Given the description of an element on the screen output the (x, y) to click on. 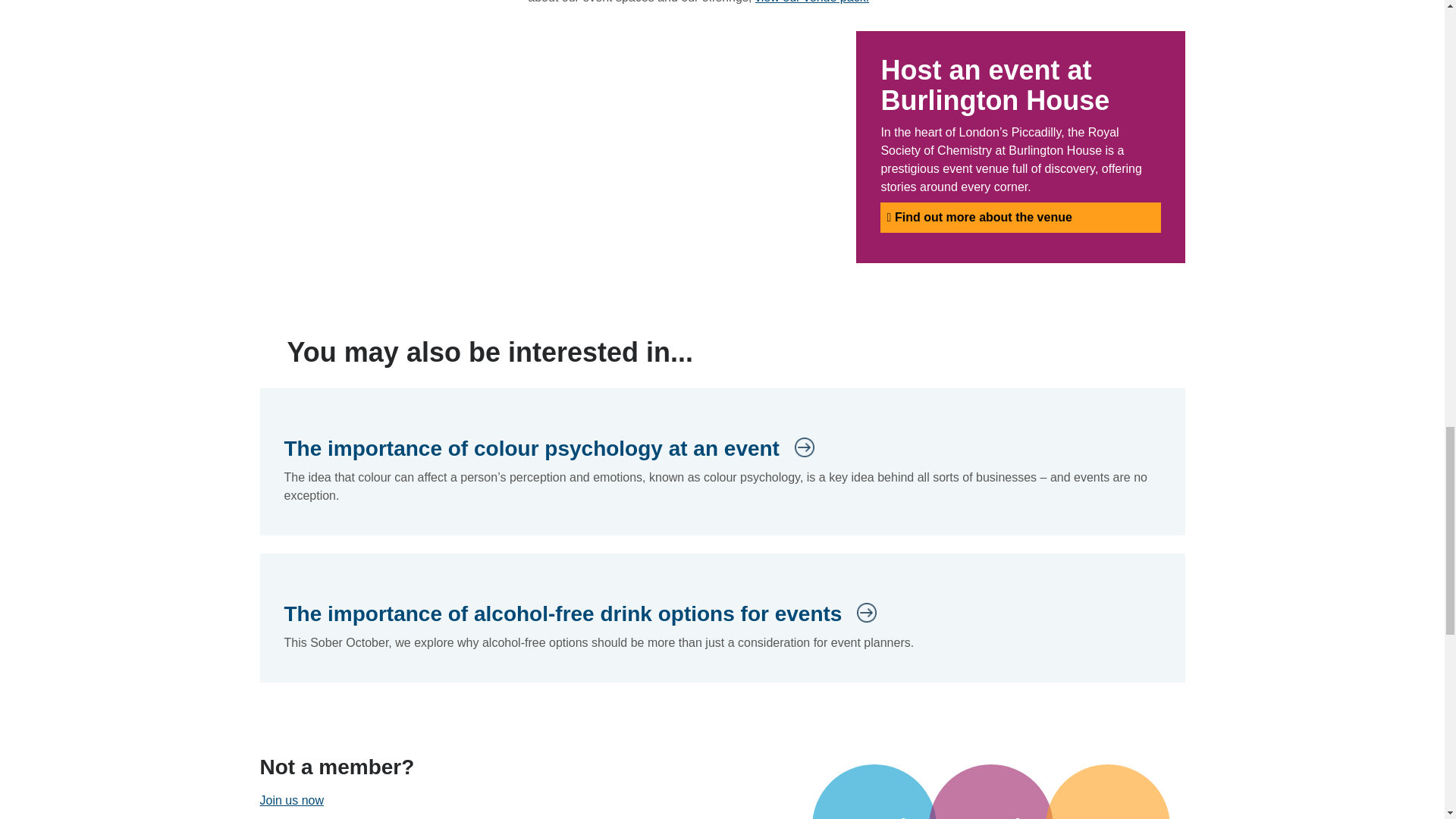
view our venue pack. (812, 2)
The importance of alcohol-free drink options for events (579, 614)
The importance of colour psychology at an event (548, 449)
Find out more about the venue (1020, 217)
Join us now (291, 799)
